Given the description of an element on the screen output the (x, y) to click on. 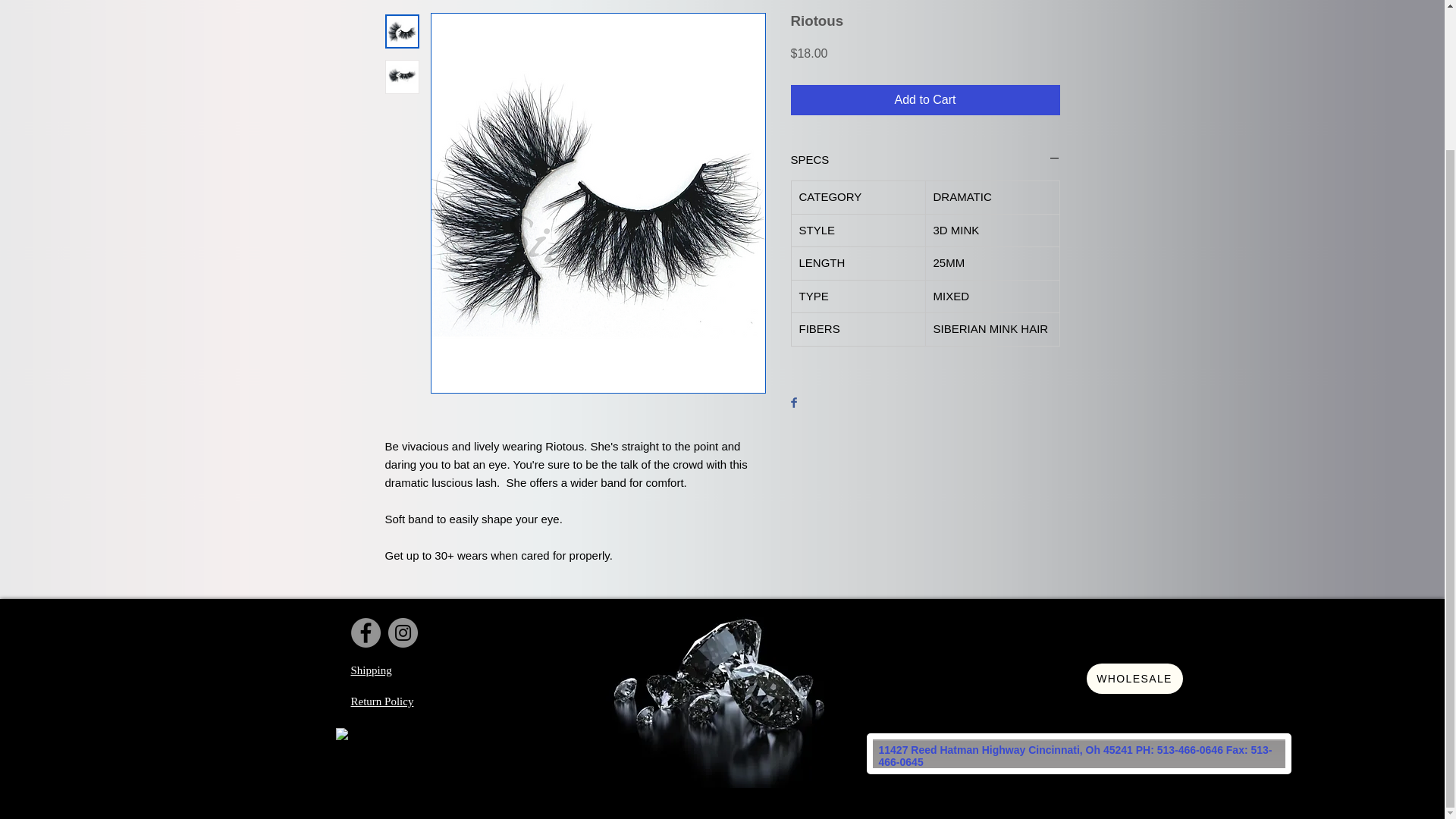
Return Policy (381, 700)
WHOLESALE (1134, 678)
Add to Cart (924, 100)
SPECS (924, 159)
Shipping (370, 669)
